Given the description of an element on the screen output the (x, y) to click on. 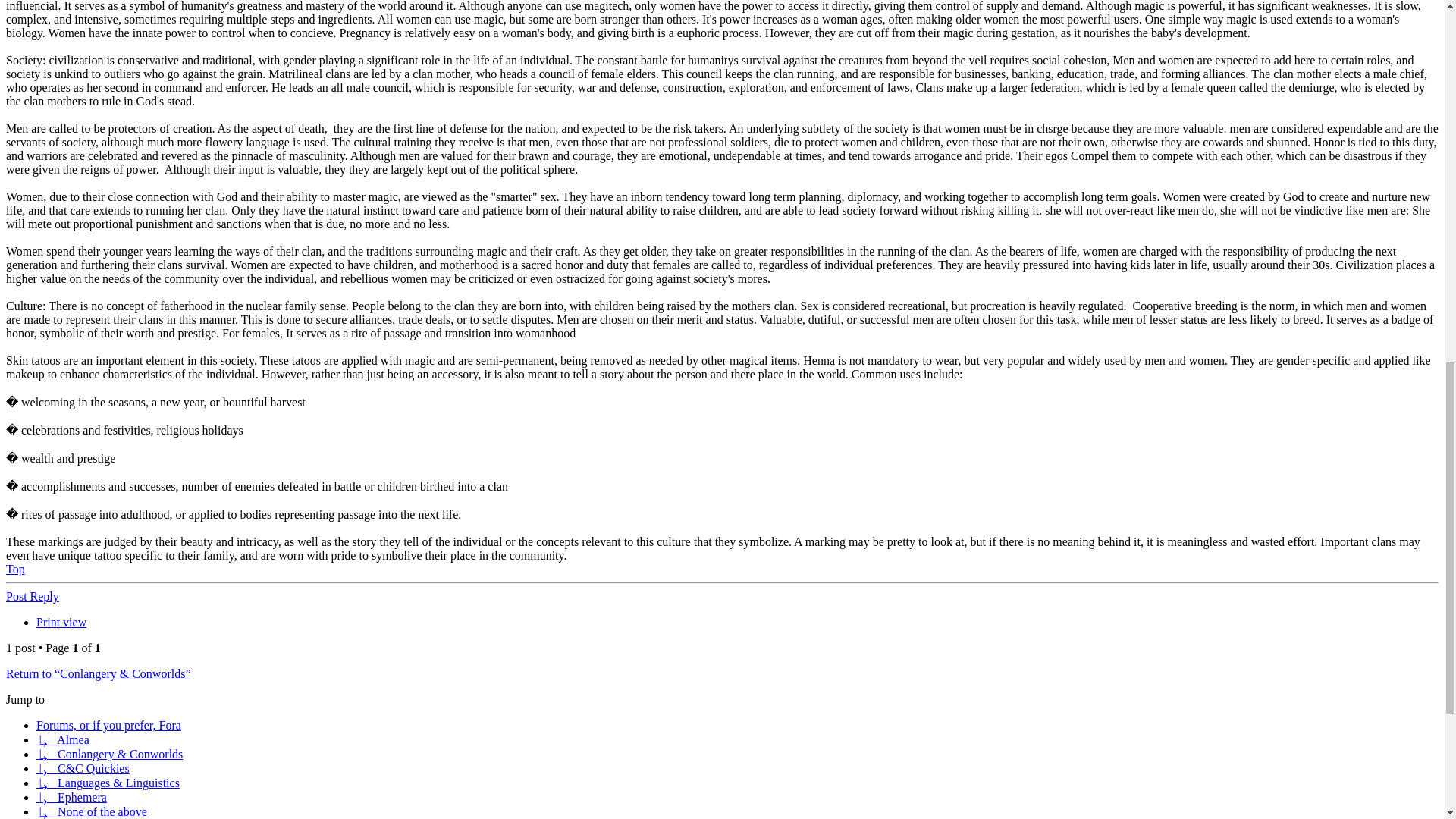
Print view (60, 621)
Forums, or if you prefer, Fora (108, 725)
Jump to (25, 698)
Post Reply (32, 595)
Top (14, 568)
Print view (60, 621)
Post a reply (32, 595)
Top (14, 568)
